Given the description of an element on the screen output the (x, y) to click on. 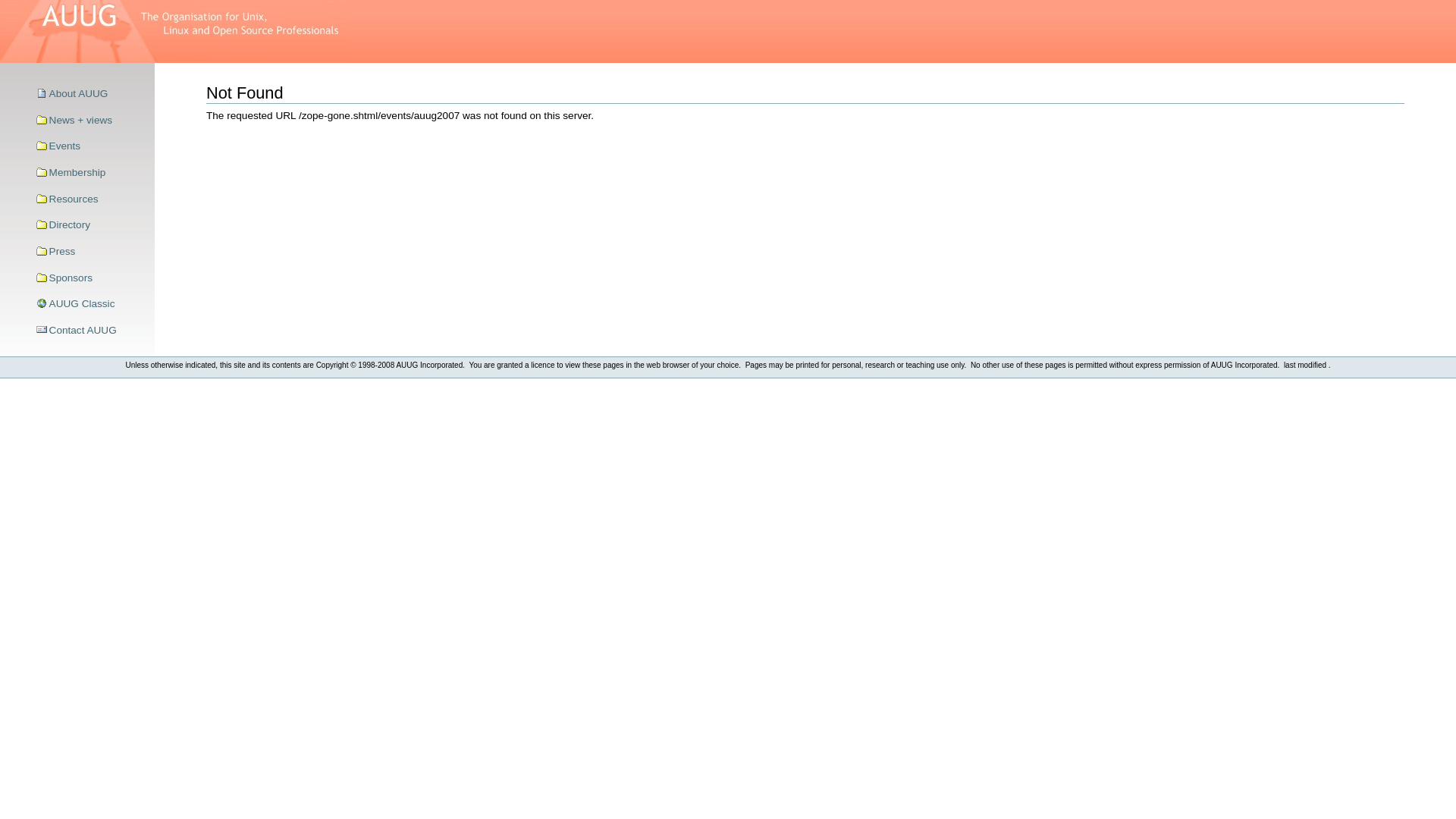
News + views Element type: text (89, 120)
Resources Element type: text (89, 199)
About AUUG Element type: text (89, 93)
Membership Element type: text (89, 172)
Sponsors Element type: text (89, 277)
AUUG Classic Element type: text (89, 303)
Contact AUUG Element type: text (89, 330)
Directory Element type: text (89, 224)
Events Element type: text (89, 146)
Press Element type: text (89, 251)
